Given the description of an element on the screen output the (x, y) to click on. 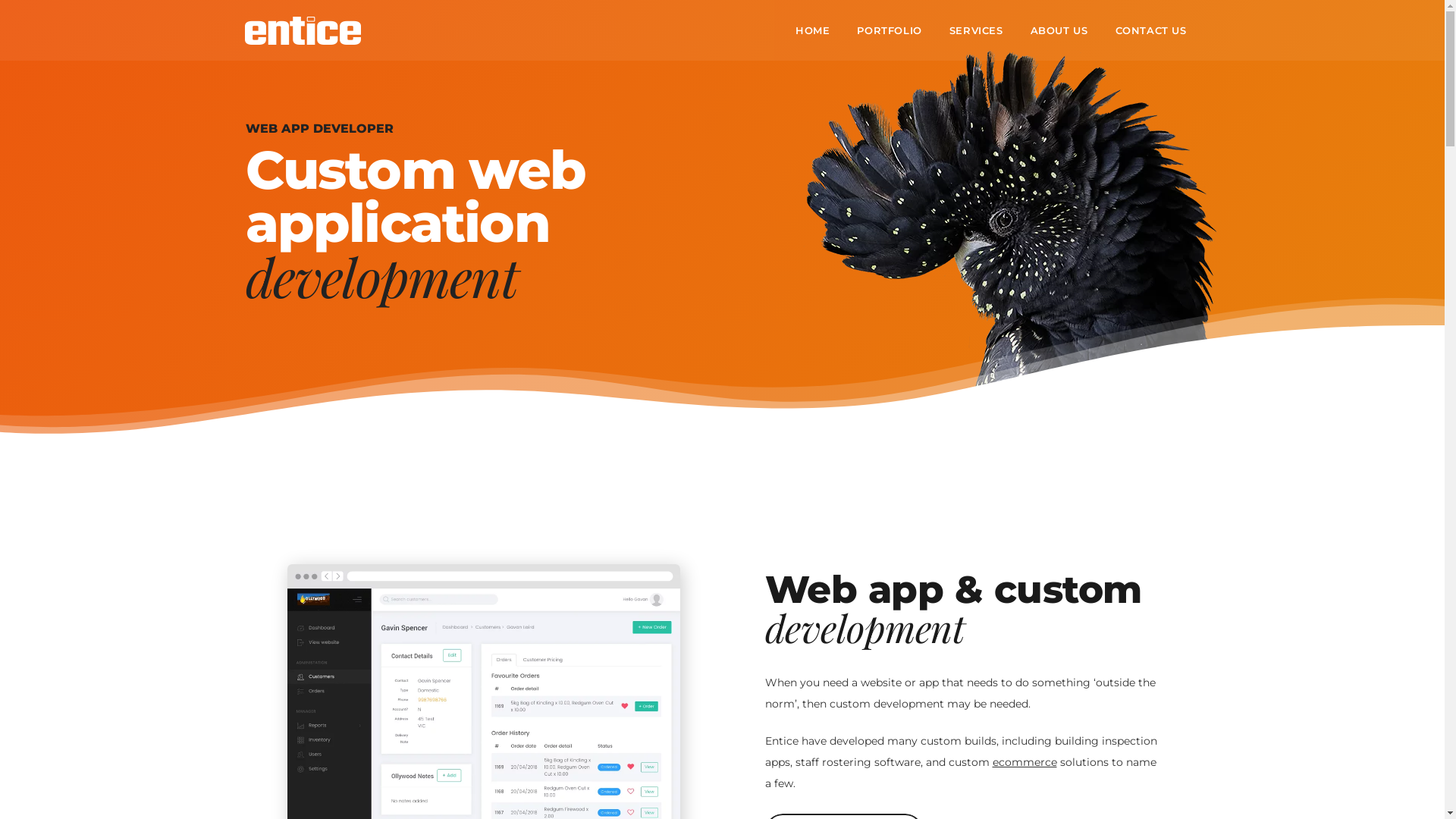
PORTFOLIO Element type: text (889, 30)
ecommerce Element type: text (1023, 761)
CONTACT US Element type: text (1150, 30)
HOME Element type: text (812, 30)
ABOUT US Element type: text (1058, 30)
SERVICES Element type: text (975, 30)
